Given the description of an element on the screen output the (x, y) to click on. 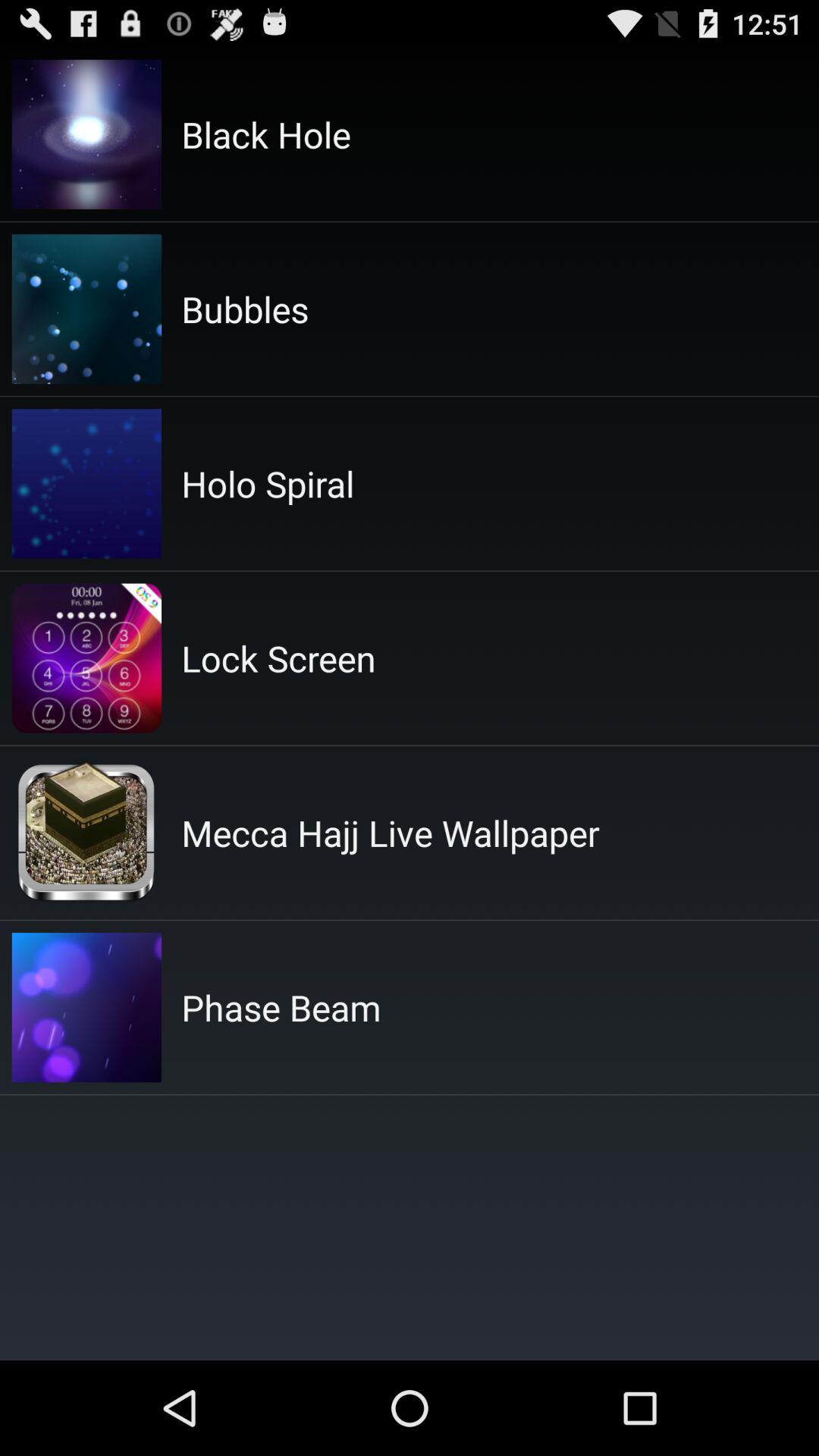
scroll until the mecca hajj live (390, 832)
